Given the description of an element on the screen output the (x, y) to click on. 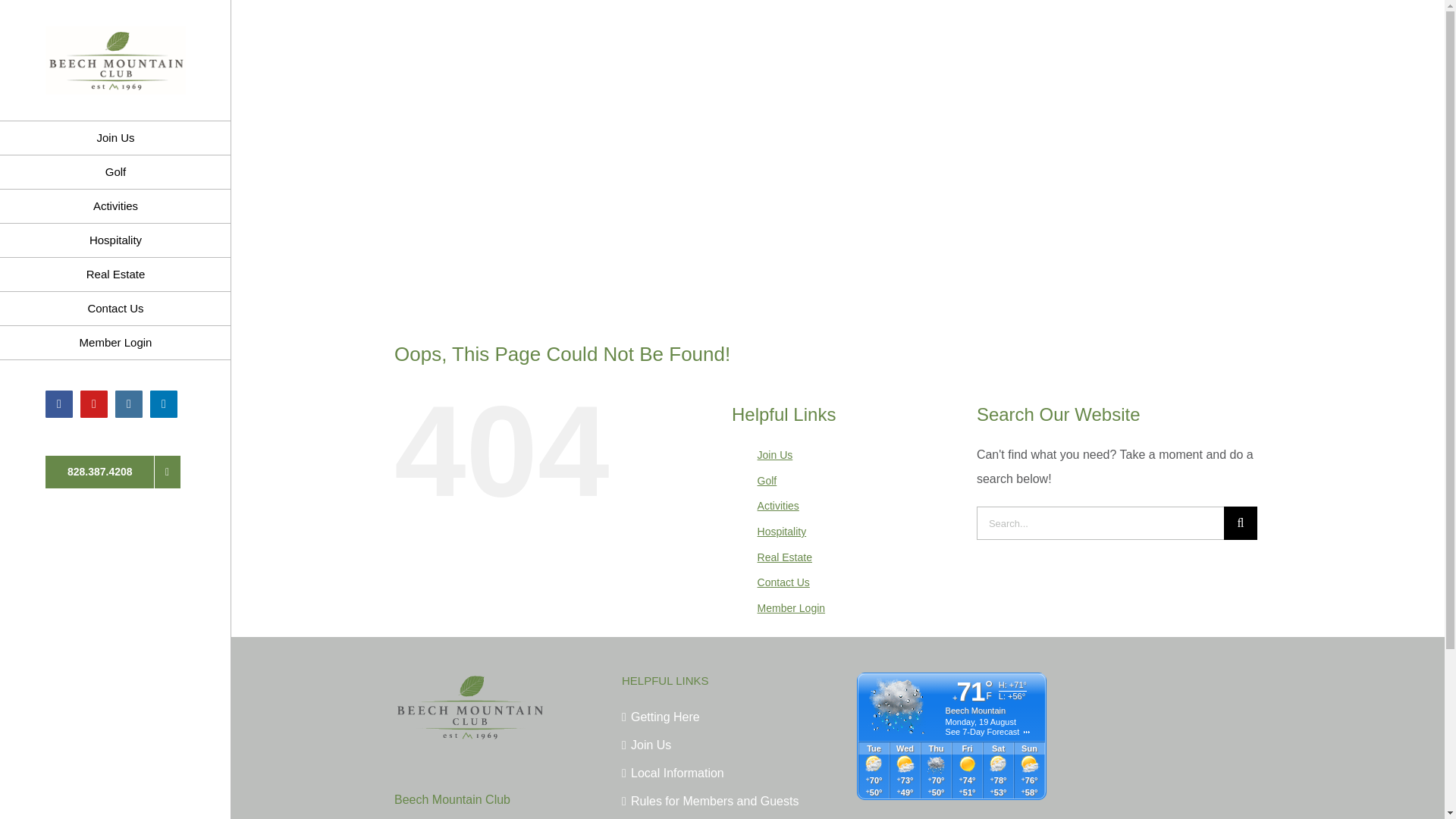
Hospitality (115, 240)
LinkedIn (163, 403)
Instagram (128, 403)
Join Us (115, 137)
Activities (115, 206)
YouTube (93, 403)
Member Login (115, 342)
Real Estate (115, 274)
Contact Us (115, 308)
Golf (115, 172)
